Given the description of an element on the screen output the (x, y) to click on. 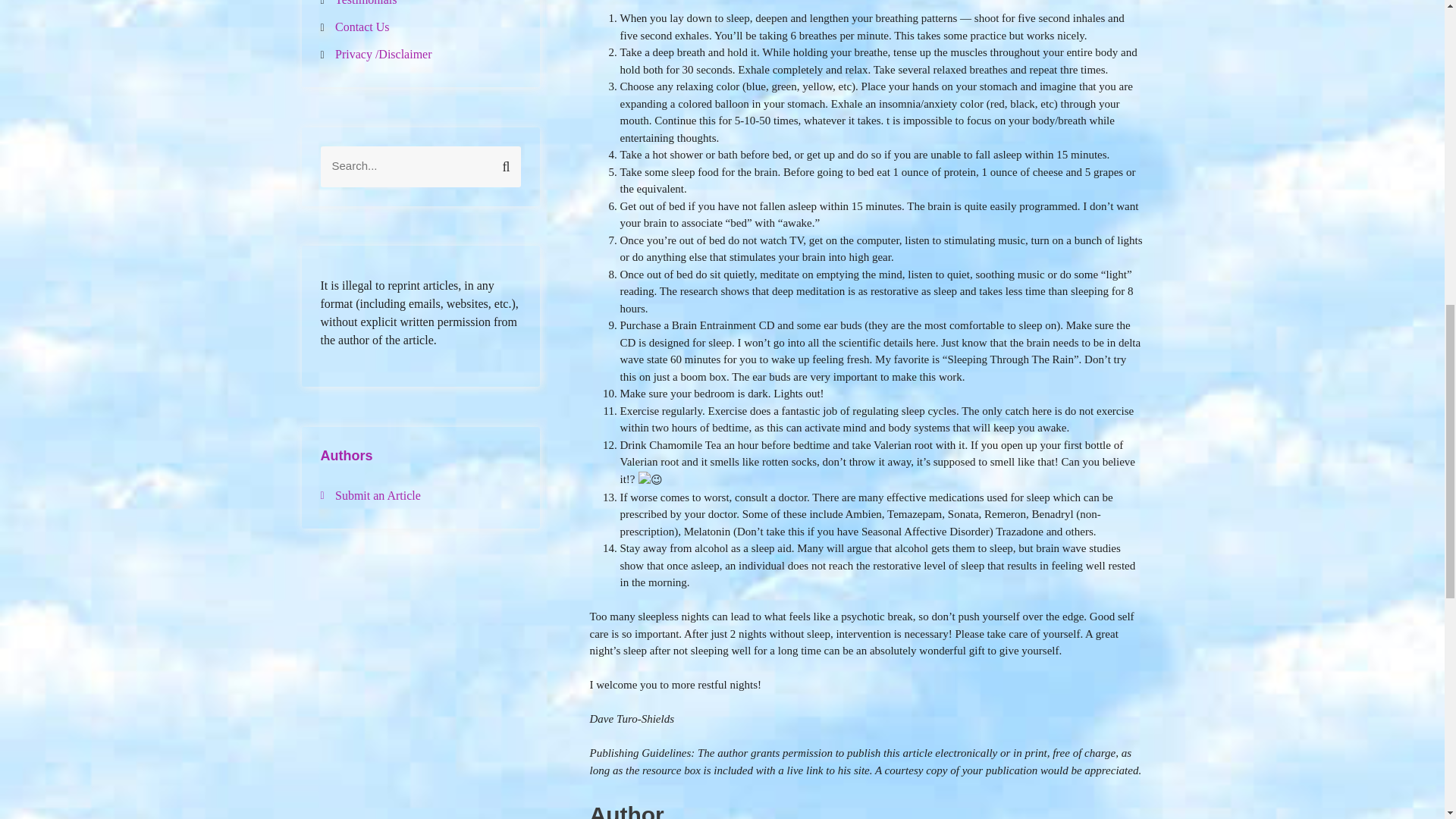
Submit an Article (377, 494)
Testimonials (365, 2)
Contact Us (362, 26)
